Given the description of an element on the screen output the (x, y) to click on. 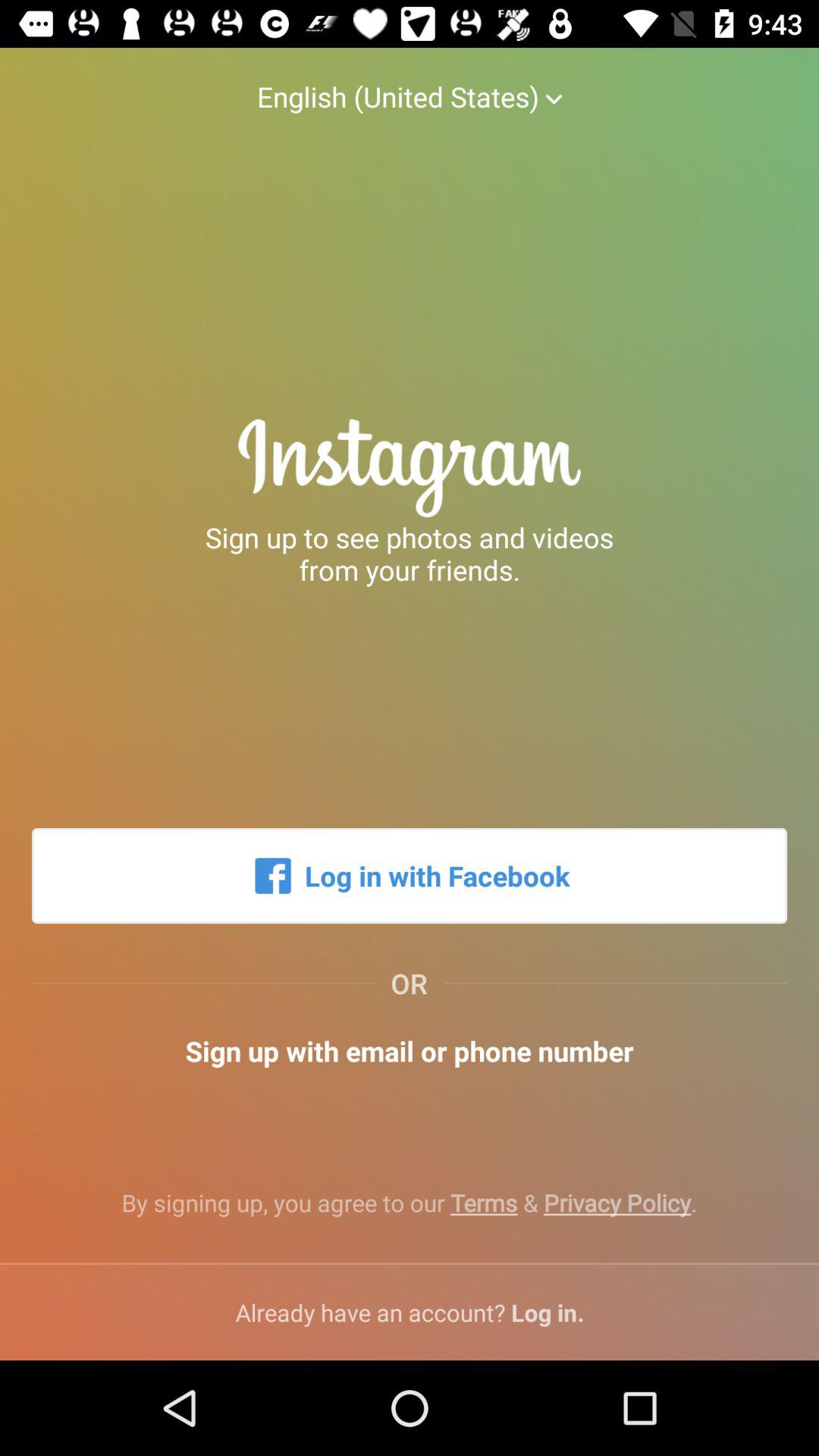
swipe until the english (united states)   icon (409, 81)
